Given the description of an element on the screen output the (x, y) to click on. 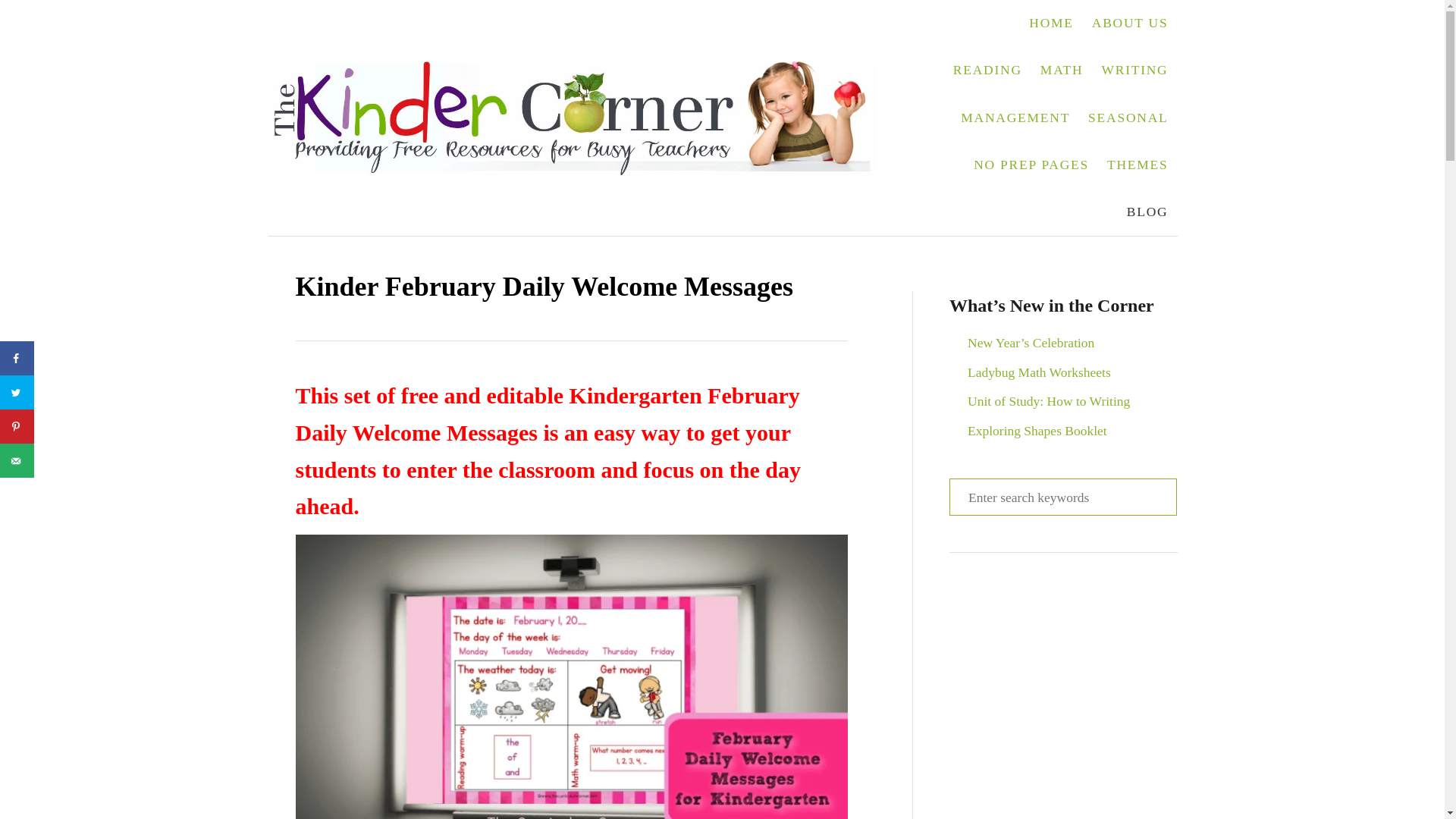
HOME (1051, 22)
ABOUT US (1130, 22)
BLOG (1147, 212)
The Kinder Corner (580, 117)
Share on Facebook (16, 358)
WRITING (1134, 70)
MATH (1061, 70)
NO PREP PAGES (1030, 165)
Save to Pinterest (16, 426)
Send over email (16, 460)
